Given the description of an element on the screen output the (x, y) to click on. 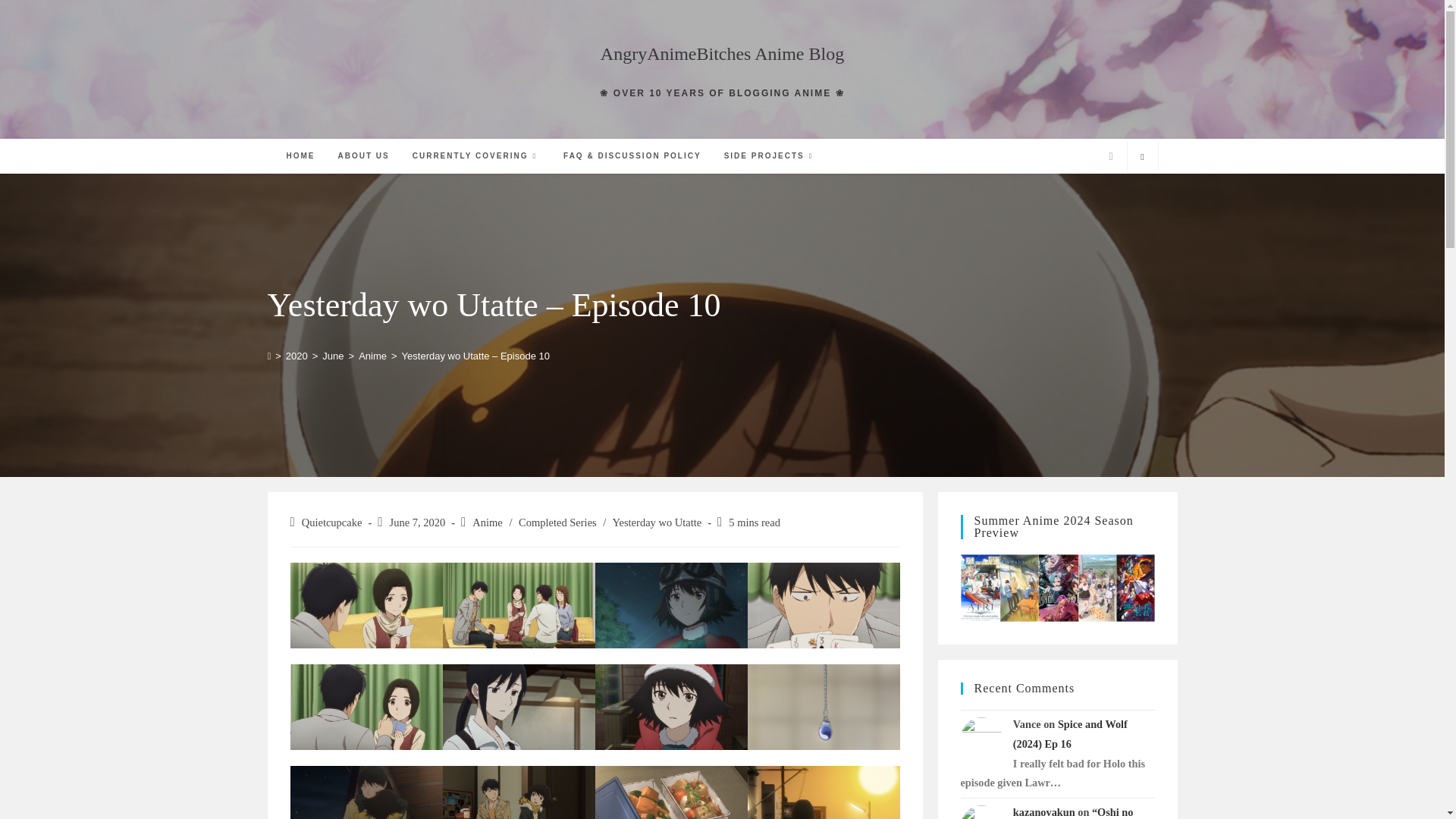
ABOUT US (363, 155)
AngryAnimeBitches Anime Blog (721, 53)
Posts by Quietcupcake (331, 522)
HOME (300, 155)
June (332, 355)
2020 (296, 355)
Anime (372, 355)
SIDE PROJECTS (770, 155)
CURRENTLY COVERING (476, 155)
